Given the description of an element on the screen output the (x, y) to click on. 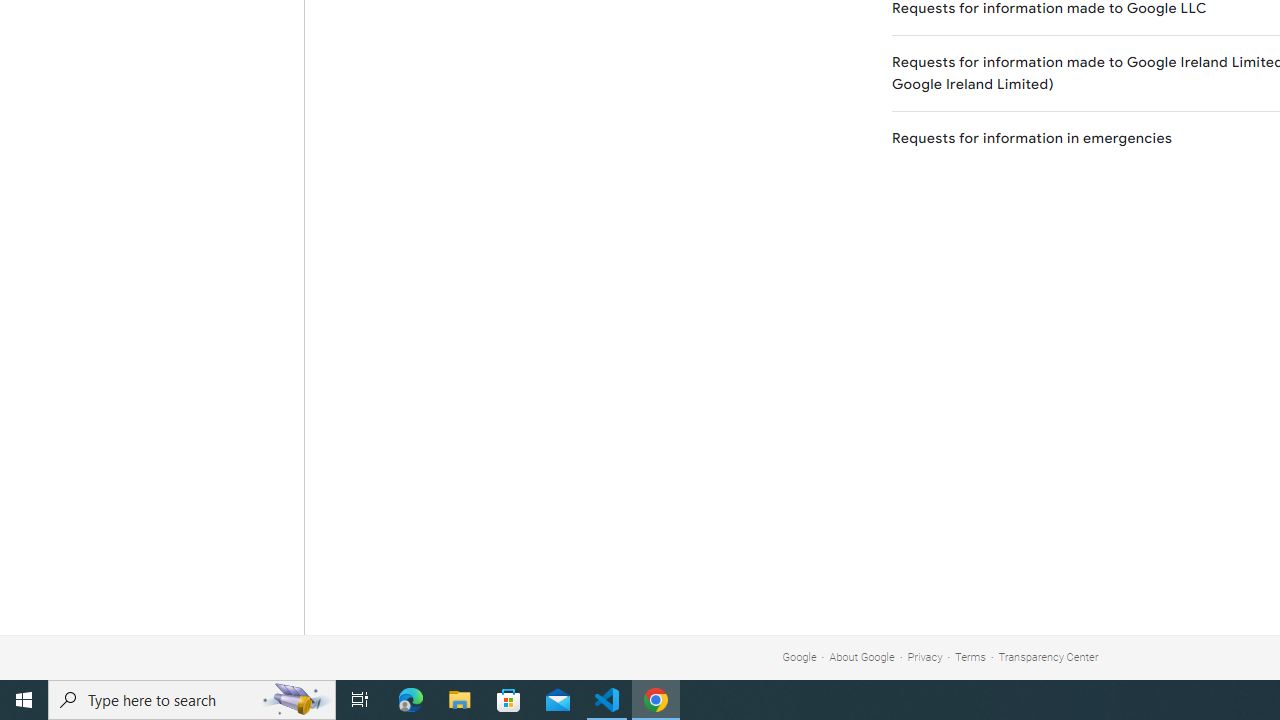
About Google (861, 656)
Transparency Center (1048, 656)
